Given the description of an element on the screen output the (x, y) to click on. 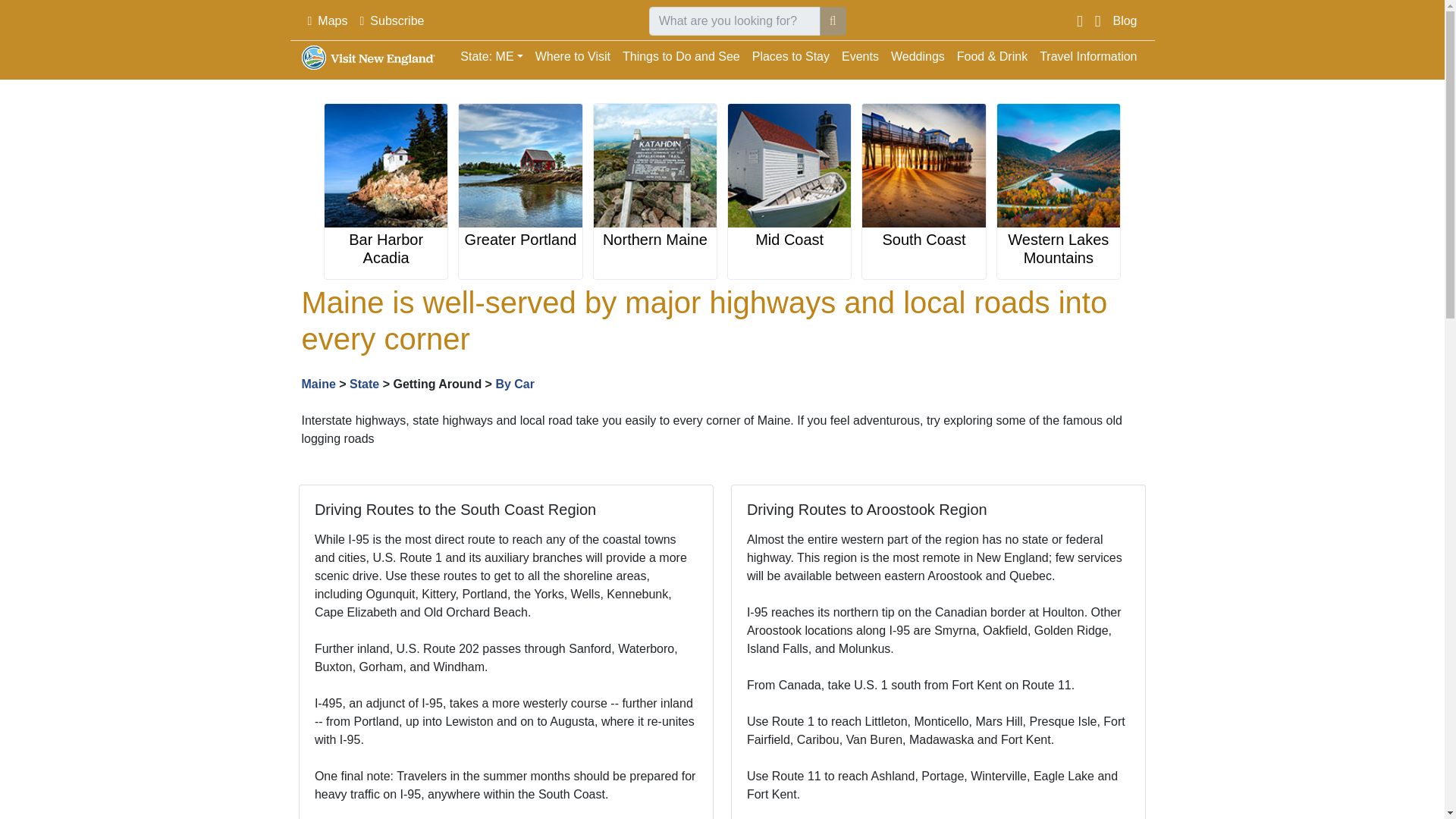
Subscribe (391, 20)
Blog (1124, 20)
Maps (327, 20)
State: ME (491, 56)
